Given the description of an element on the screen output the (x, y) to click on. 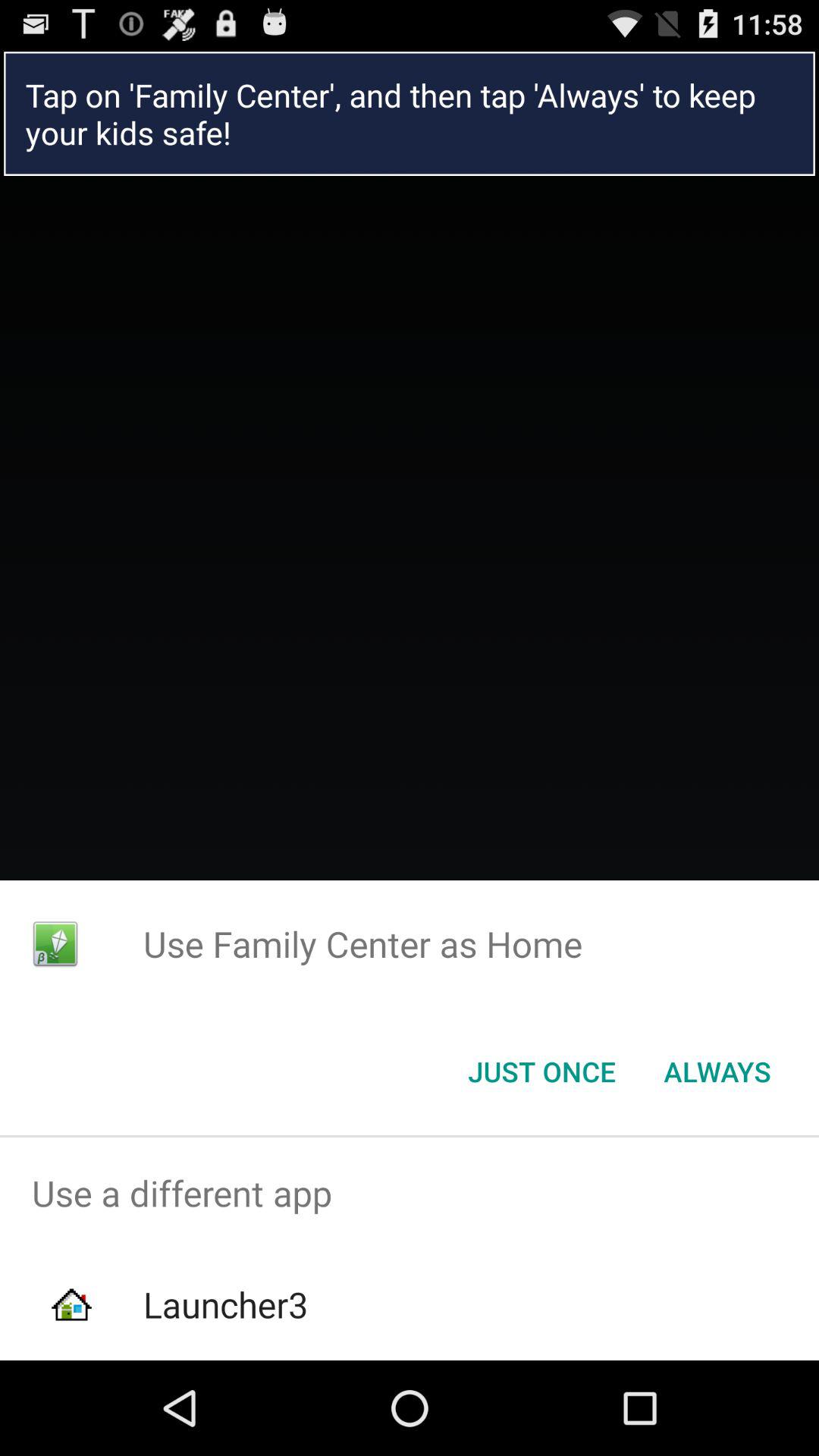
swipe until launcher3 item (225, 1304)
